Given the description of an element on the screen output the (x, y) to click on. 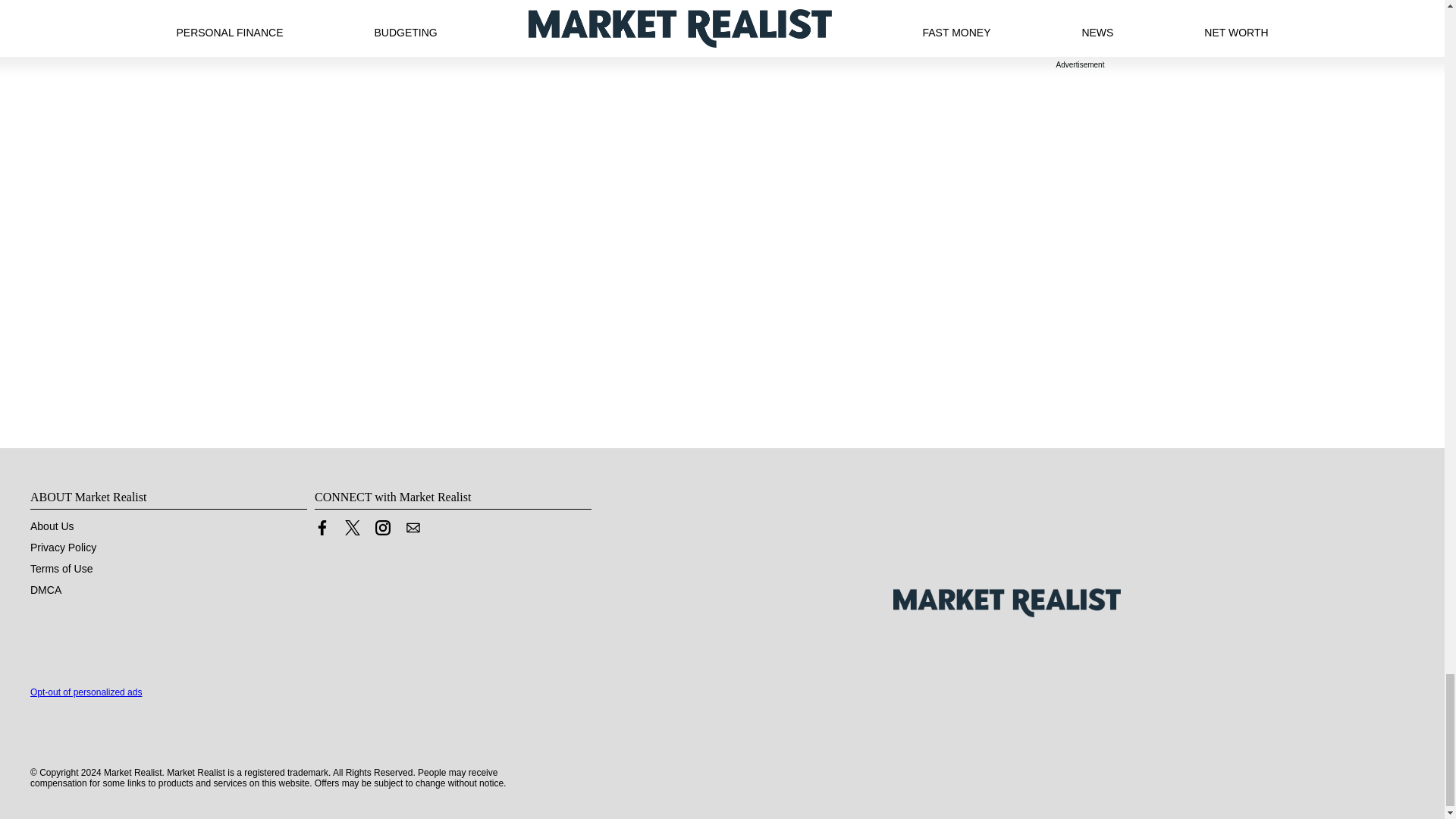
Link to Instagram (382, 527)
Contact us by Email (413, 531)
Link to X (352, 527)
About Us (52, 526)
DMCA (45, 589)
Contact us by Email (413, 527)
Privacy Policy (63, 547)
About Us (52, 526)
Link to X (352, 531)
Privacy Policy (63, 547)
Link to Facebook (322, 527)
DMCA (45, 589)
Link to Instagram (382, 531)
Terms of Use (61, 568)
Link to Facebook (322, 531)
